Given the description of an element on the screen output the (x, y) to click on. 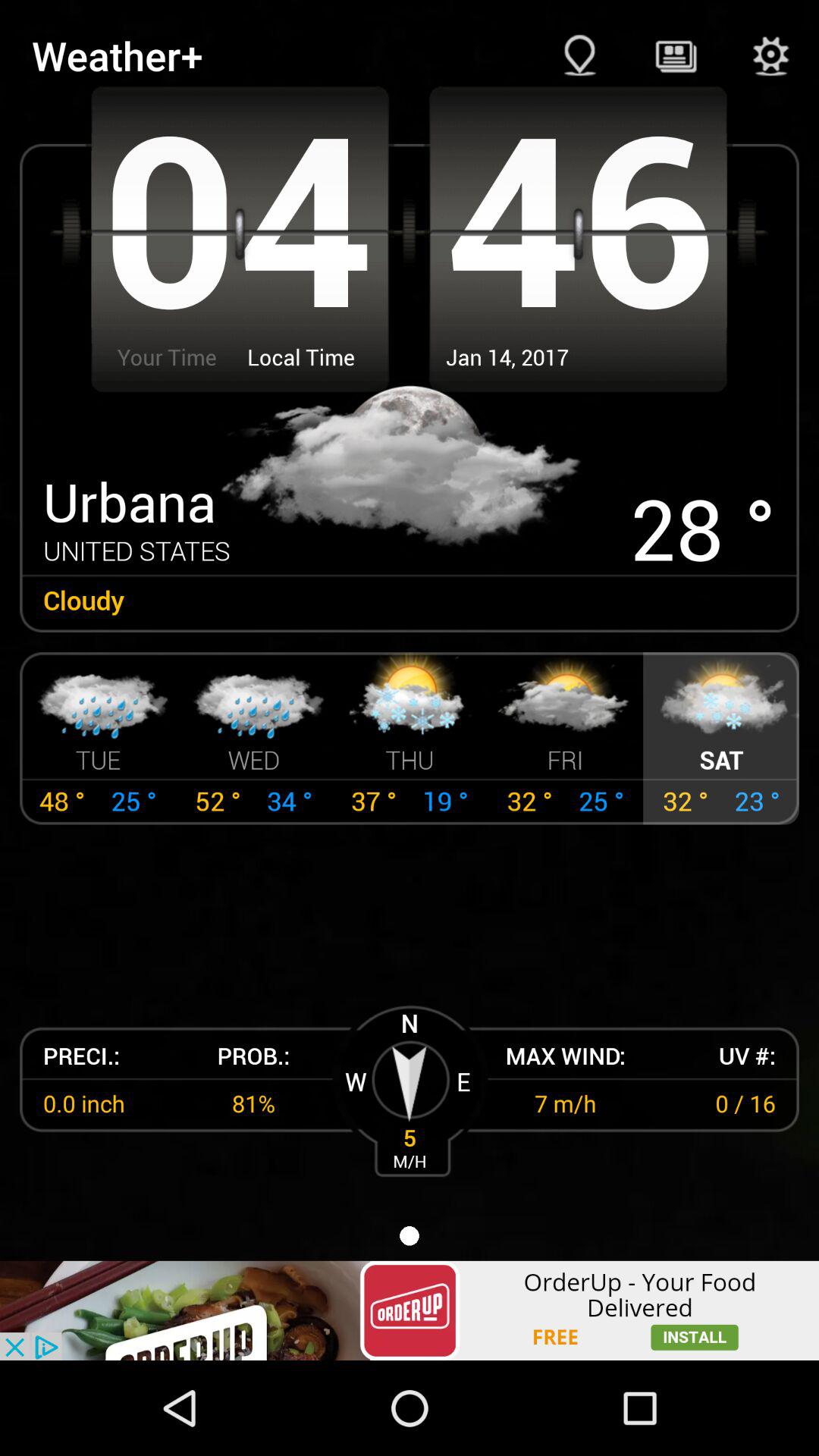
add of the option (409, 1310)
